Given the description of an element on the screen output the (x, y) to click on. 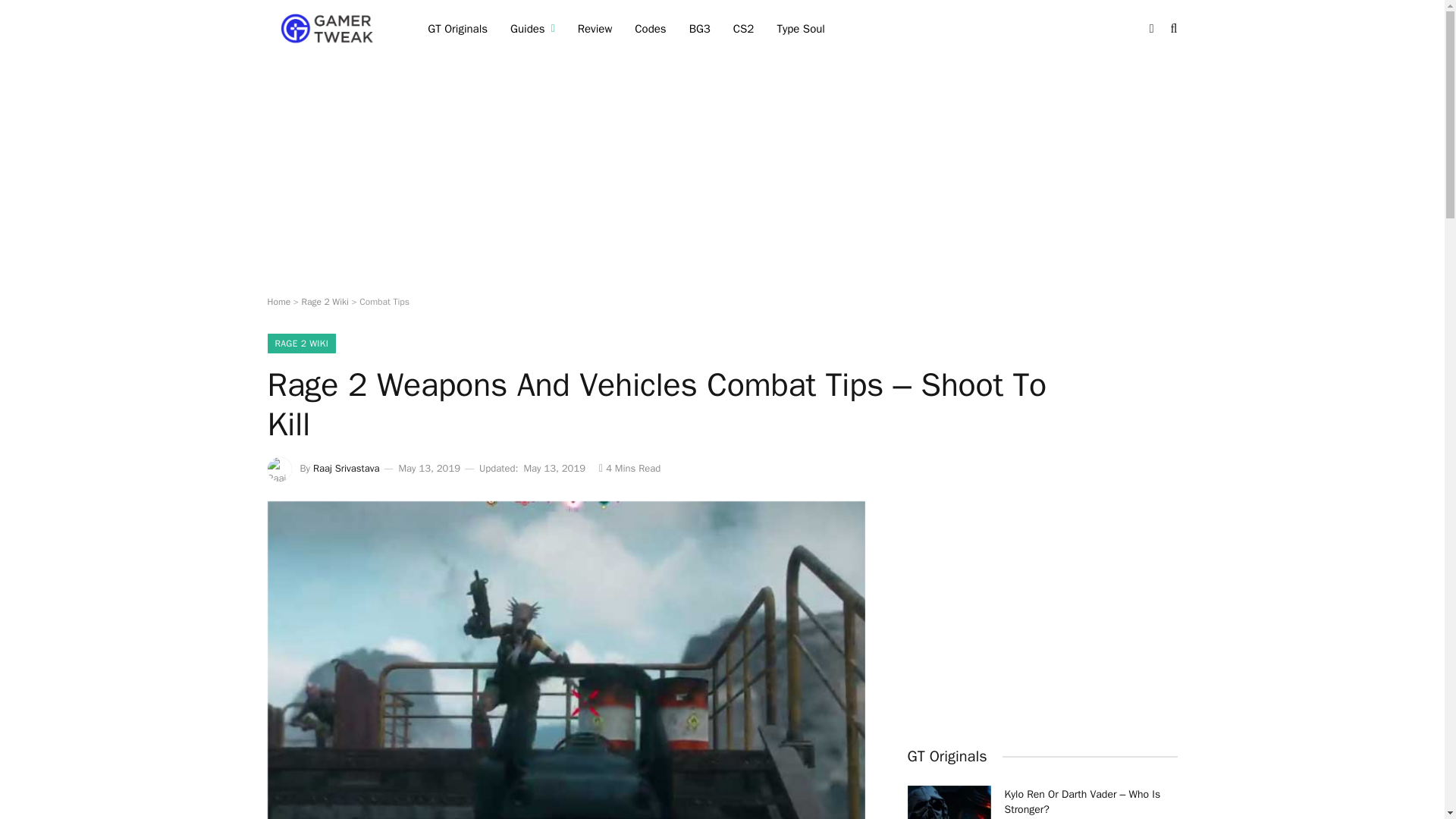
Switch to Dark Design - easier on eyes. (1151, 28)
Home (277, 301)
RAGE 2 WIKI (301, 342)
Review (595, 28)
Rage 2 Wiki (325, 301)
Gamer Tweak (328, 28)
GT Originals (457, 28)
Posts by Raaj Srivastava (345, 468)
Raaj Srivastava (345, 468)
Guides (532, 28)
Codes (650, 28)
Type Soul (800, 28)
